Given the description of an element on the screen output the (x, y) to click on. 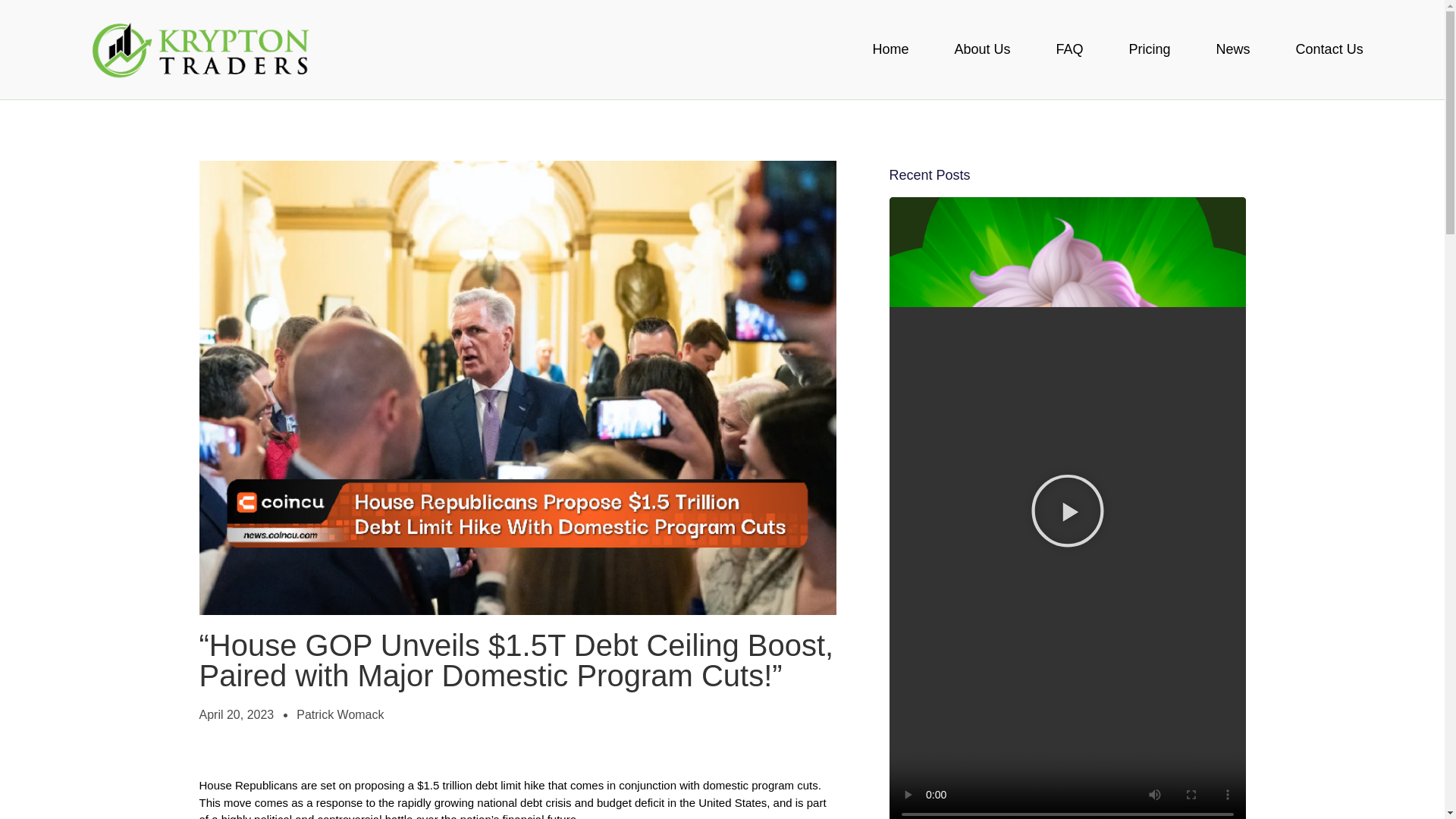
Home (889, 48)
FAQ (1069, 48)
Pricing (1149, 48)
News (1232, 48)
Patrick Womack (340, 714)
About Us (981, 48)
Contact Us (1329, 48)
April 20, 2023 (235, 714)
